Given the description of an element on the screen output the (x, y) to click on. 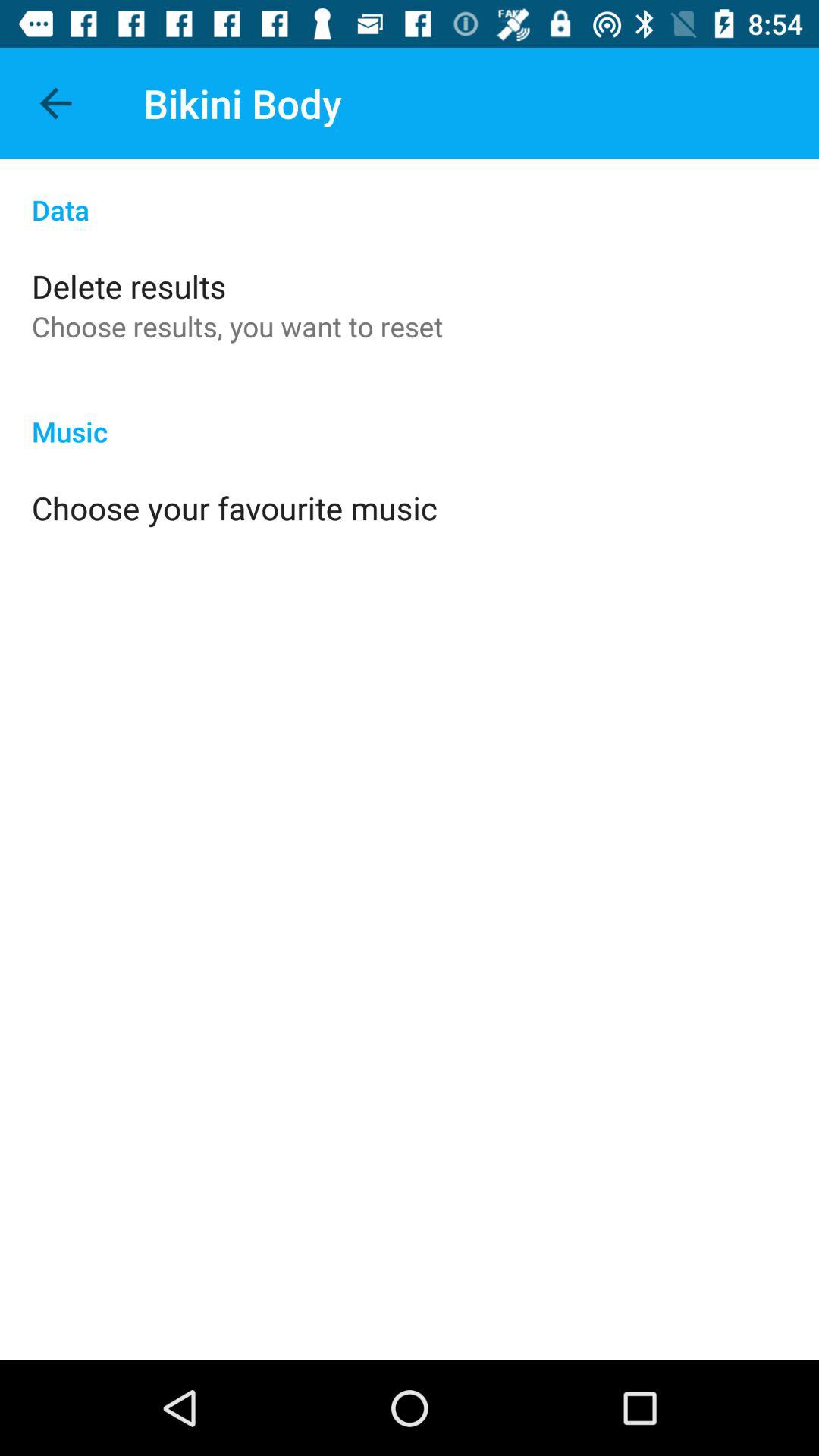
click the app to the left of bikini body (55, 103)
